Given the description of an element on the screen output the (x, y) to click on. 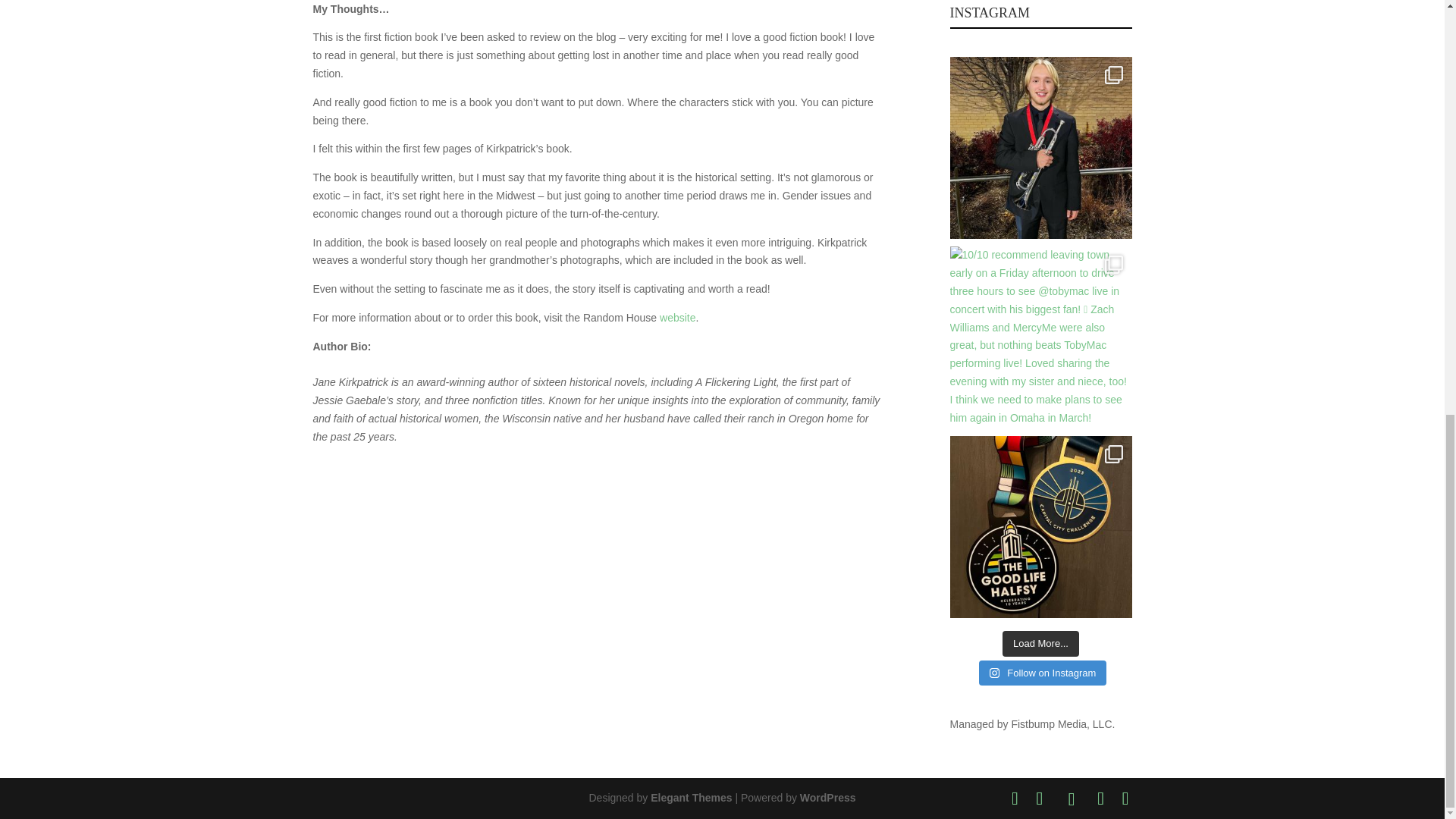
Premium WordPress Themes (691, 797)
